Given the description of an element on the screen output the (x, y) to click on. 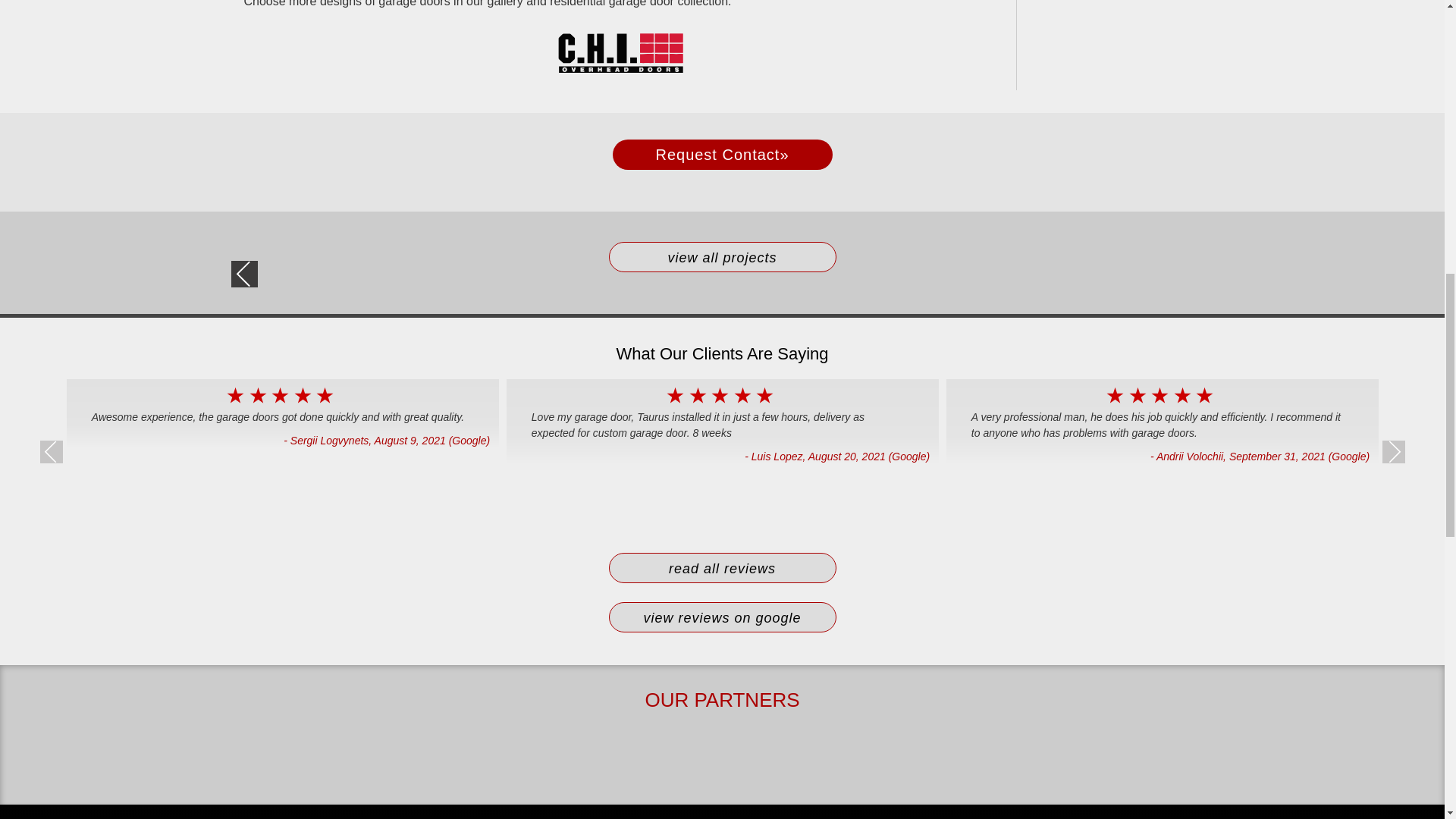
view all projects (721, 256)
All News (721, 256)
Return to the previous page (244, 274)
